Given the description of an element on the screen output the (x, y) to click on. 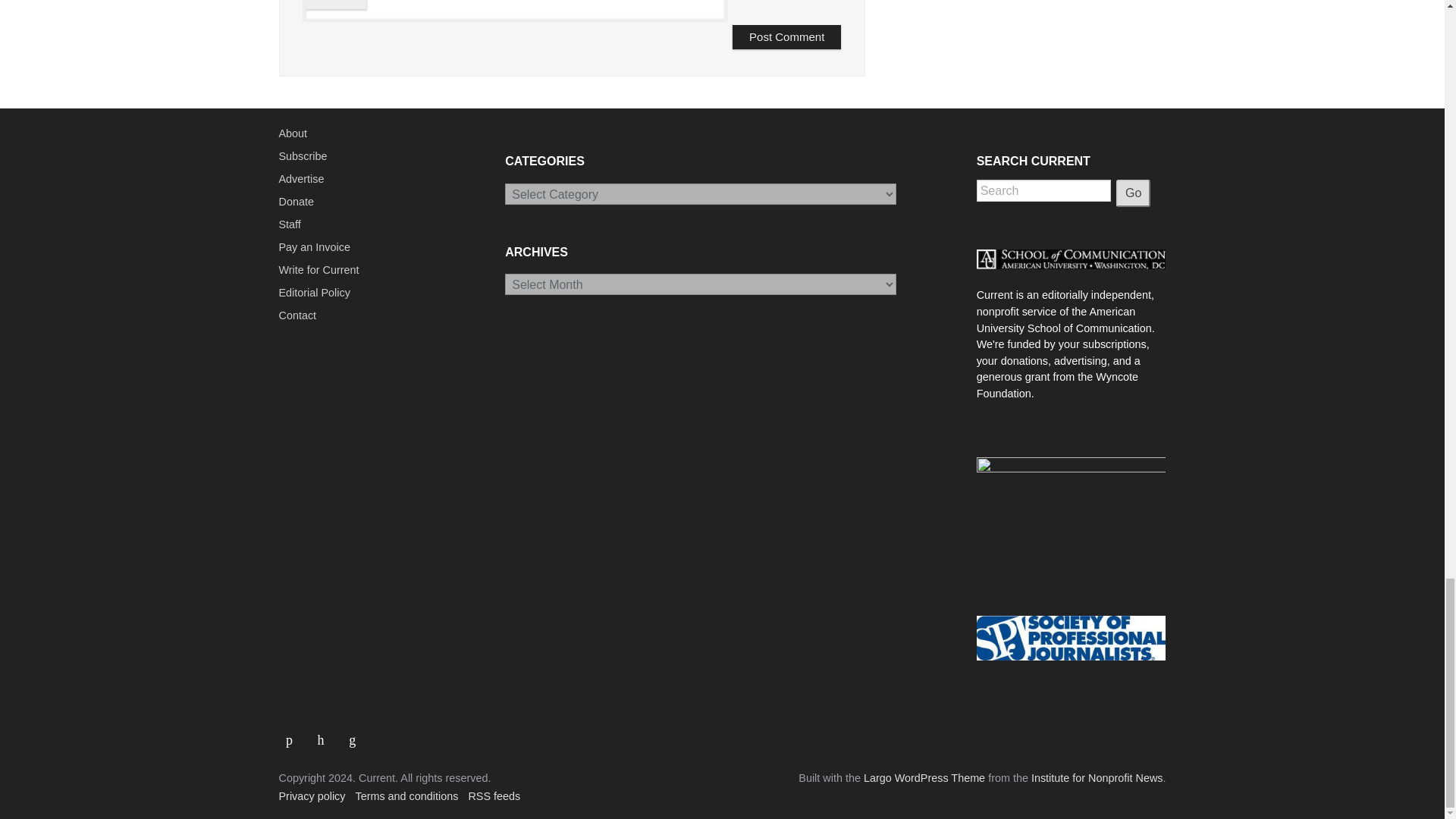
Post Comment (786, 37)
Link to Twitter Page (326, 733)
Link to Facebook Profile (295, 733)
